Given the description of an element on the screen output the (x, y) to click on. 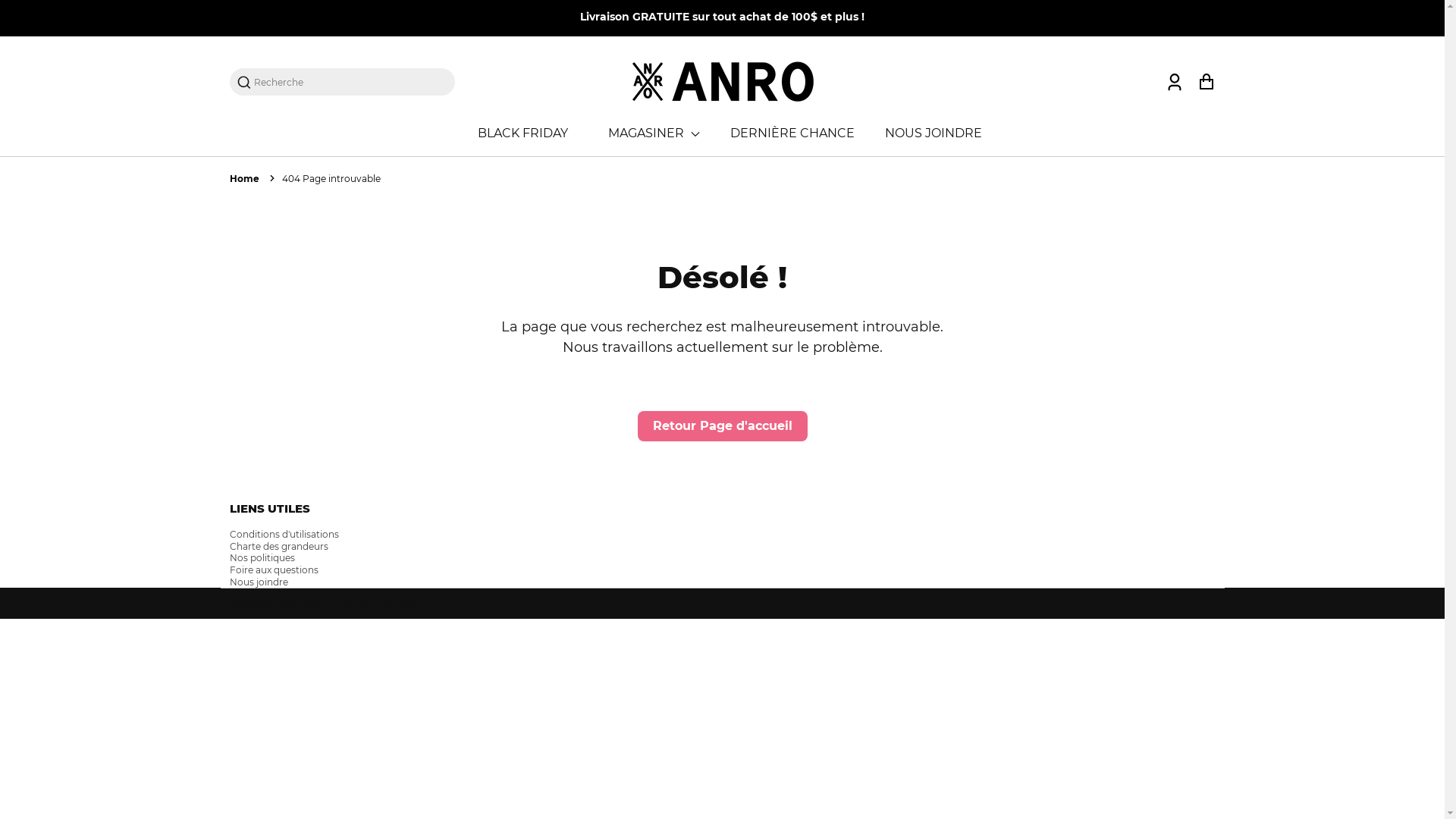
Nos politiques Element type: text (261, 557)
Account Element type: text (1173, 81)
Retour Page d'accueil Element type: text (721, 426)
Charte des grandeurs Element type: text (278, 546)
Conditions d'utilisations Element type: text (283, 533)
NOUS JOINDRE Element type: text (933, 133)
MAGASINER Element type: text (654, 133)
Home Element type: text (243, 178)
Nous joindre Element type: text (258, 581)
Foire aux questions Element type: text (273, 569)
ANRO APPAREL Element type: text (293, 603)
404 Page introuvable Element type: text (331, 178)
Panier Element type: text (1205, 81)
